Given the description of an element on the screen output the (x, y) to click on. 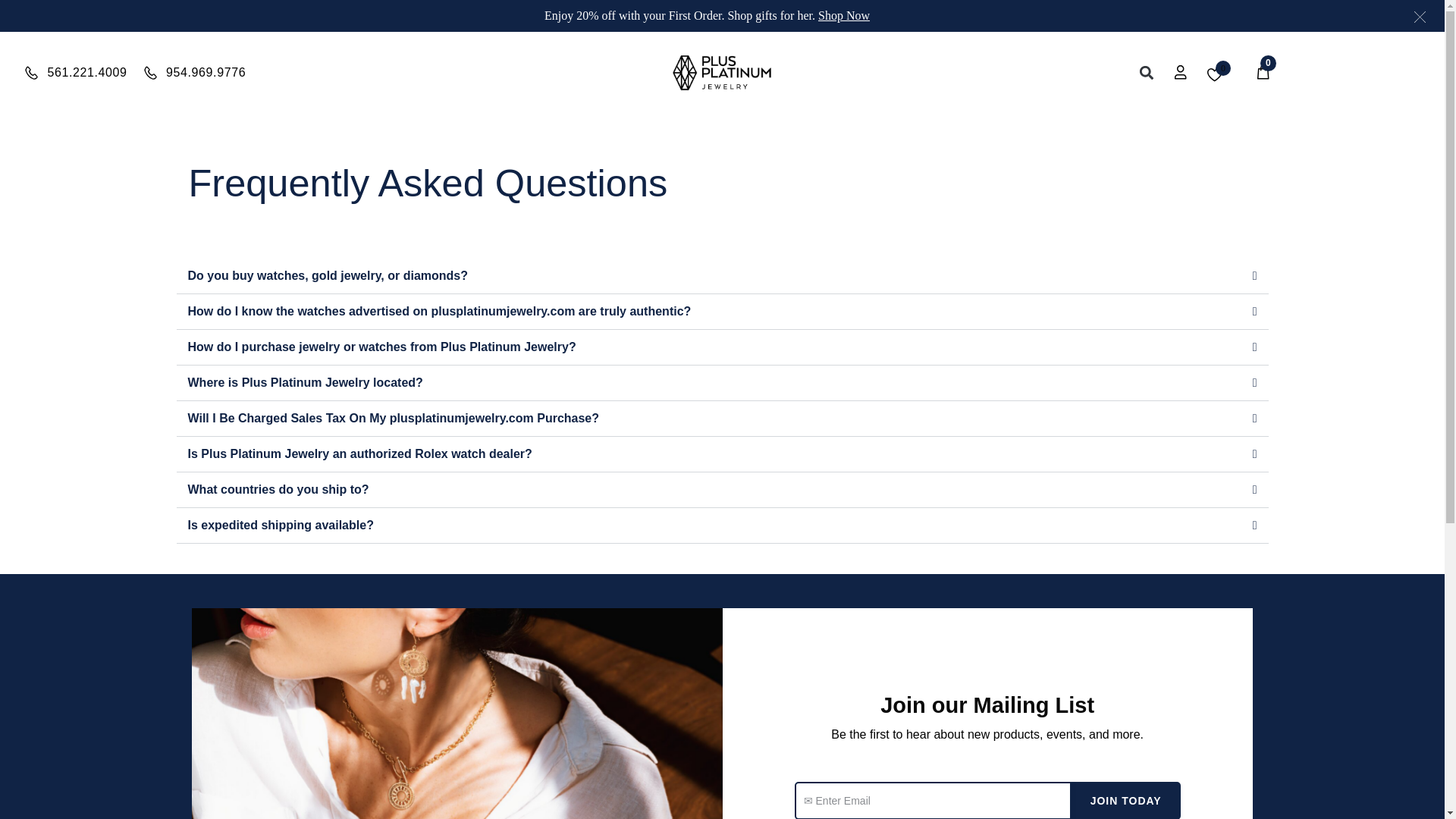
Is Plus Platinum Jewelry an authorized Rolex watch dealer? (359, 453)
Join Today (1125, 800)
Where is Plus Platinum Jewelry located? (305, 382)
954.969.9776 (193, 72)
Is expedited shipping available? (280, 524)
561.221.4009 (75, 72)
Do you buy watches, gold jewelry, or diamonds? (327, 275)
0 (1264, 72)
What countries do you ship to? (278, 489)
Join Today (1125, 800)
